Given the description of an element on the screen output the (x, y) to click on. 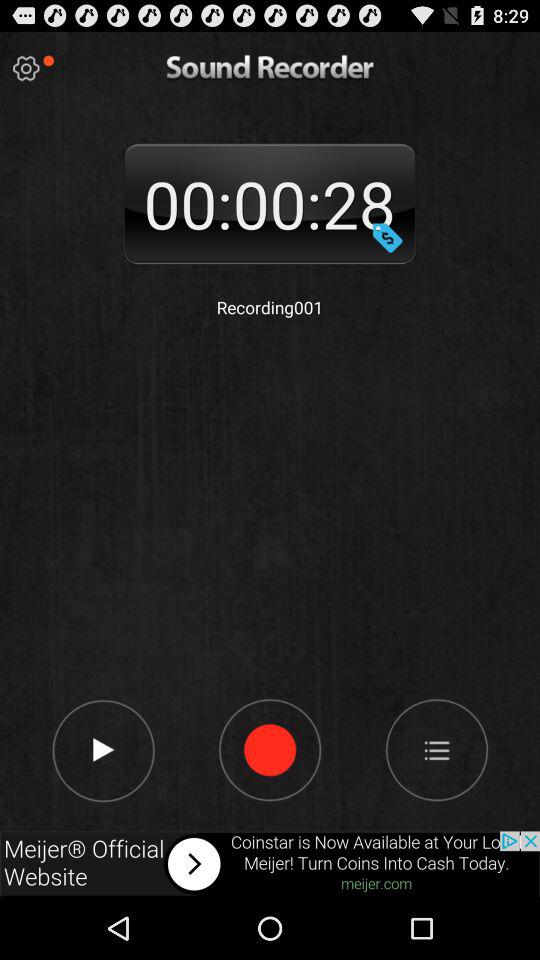
dollar symbol (387, 237)
